Given the description of an element on the screen output the (x, y) to click on. 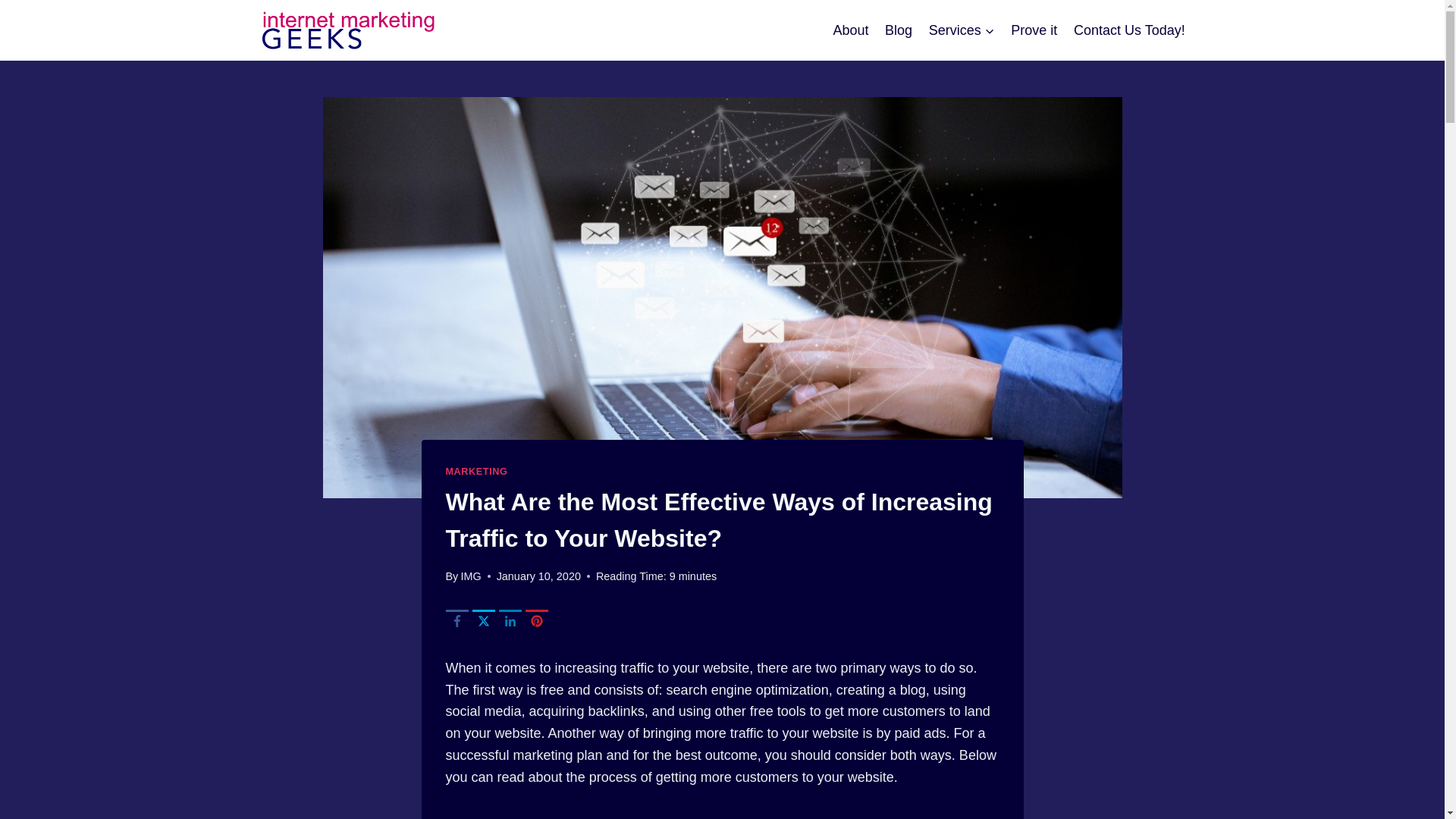
Prove it (1034, 30)
Services (961, 30)
About (851, 30)
IMG (470, 576)
Blog (898, 30)
Contact Us Today! (1128, 30)
MARKETING (476, 471)
